Given the description of an element on the screen output the (x, y) to click on. 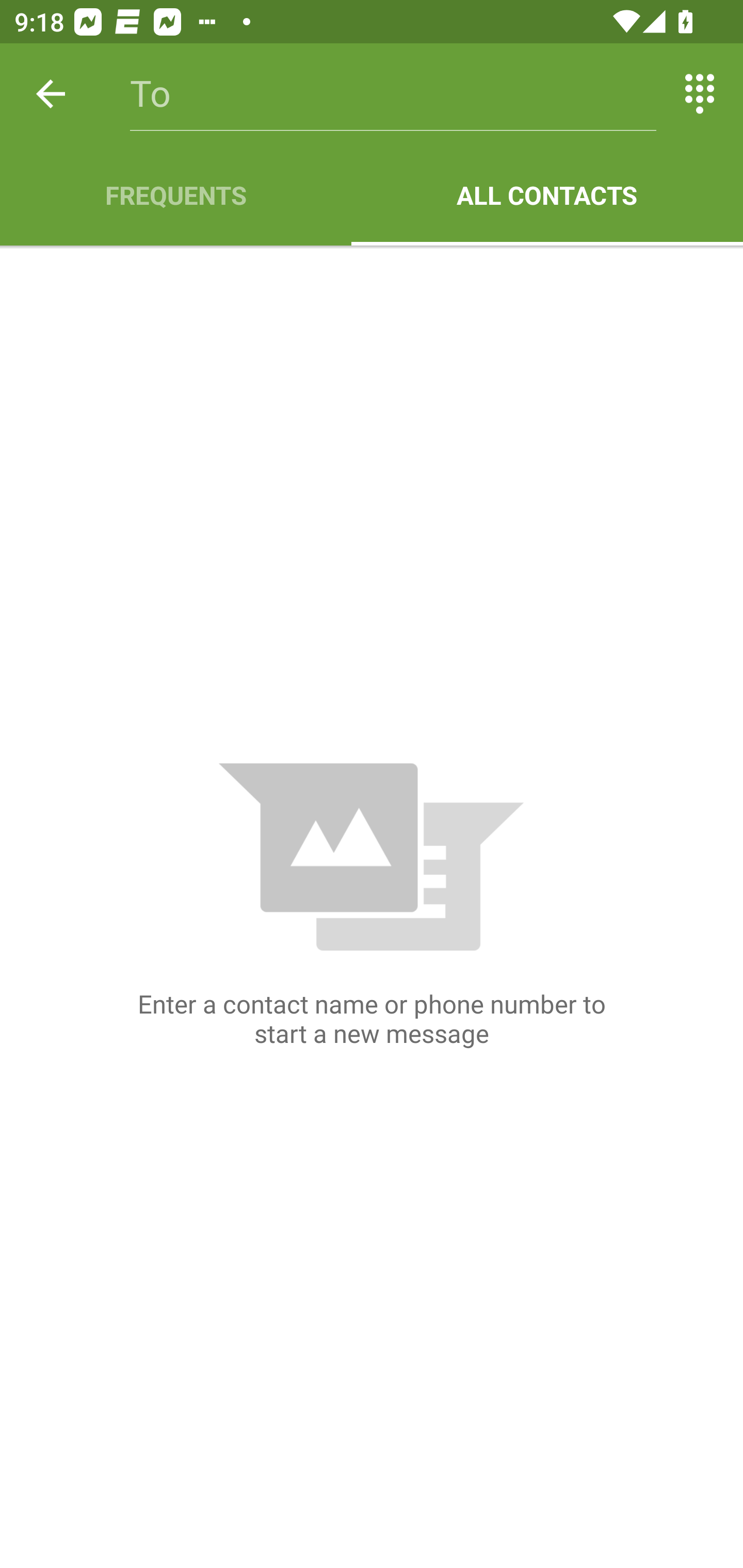
Back (50, 93)
Switch between entering text and numbers (699, 93)
To (393, 93)
FREQUENTS (175, 195)
ALL CONTACTS (547, 195)
